Given the description of an element on the screen output the (x, y) to click on. 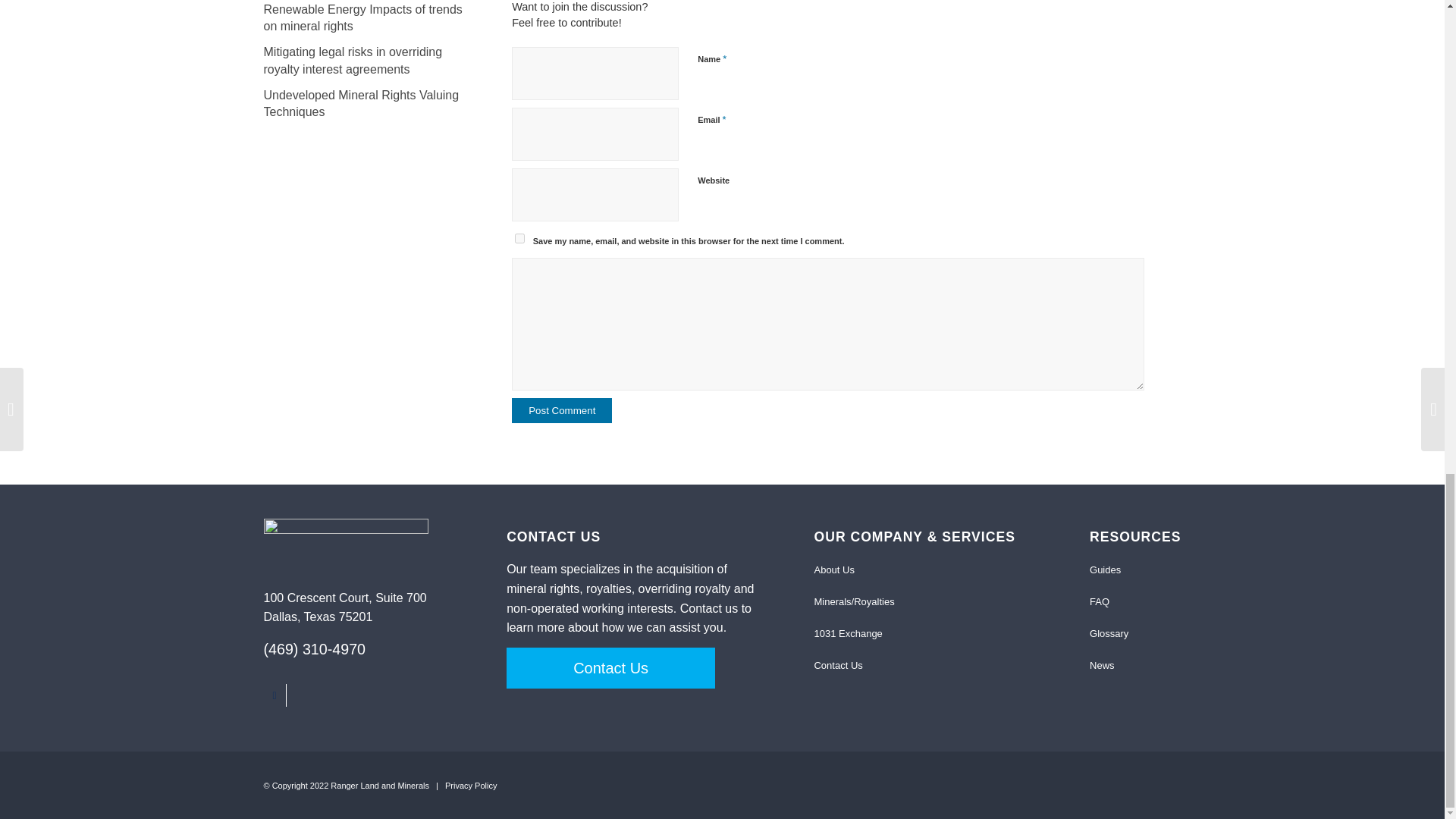
Post Comment (561, 410)
Post Comment (561, 410)
yes (519, 238)
